Given the description of an element on the screen output the (x, y) to click on. 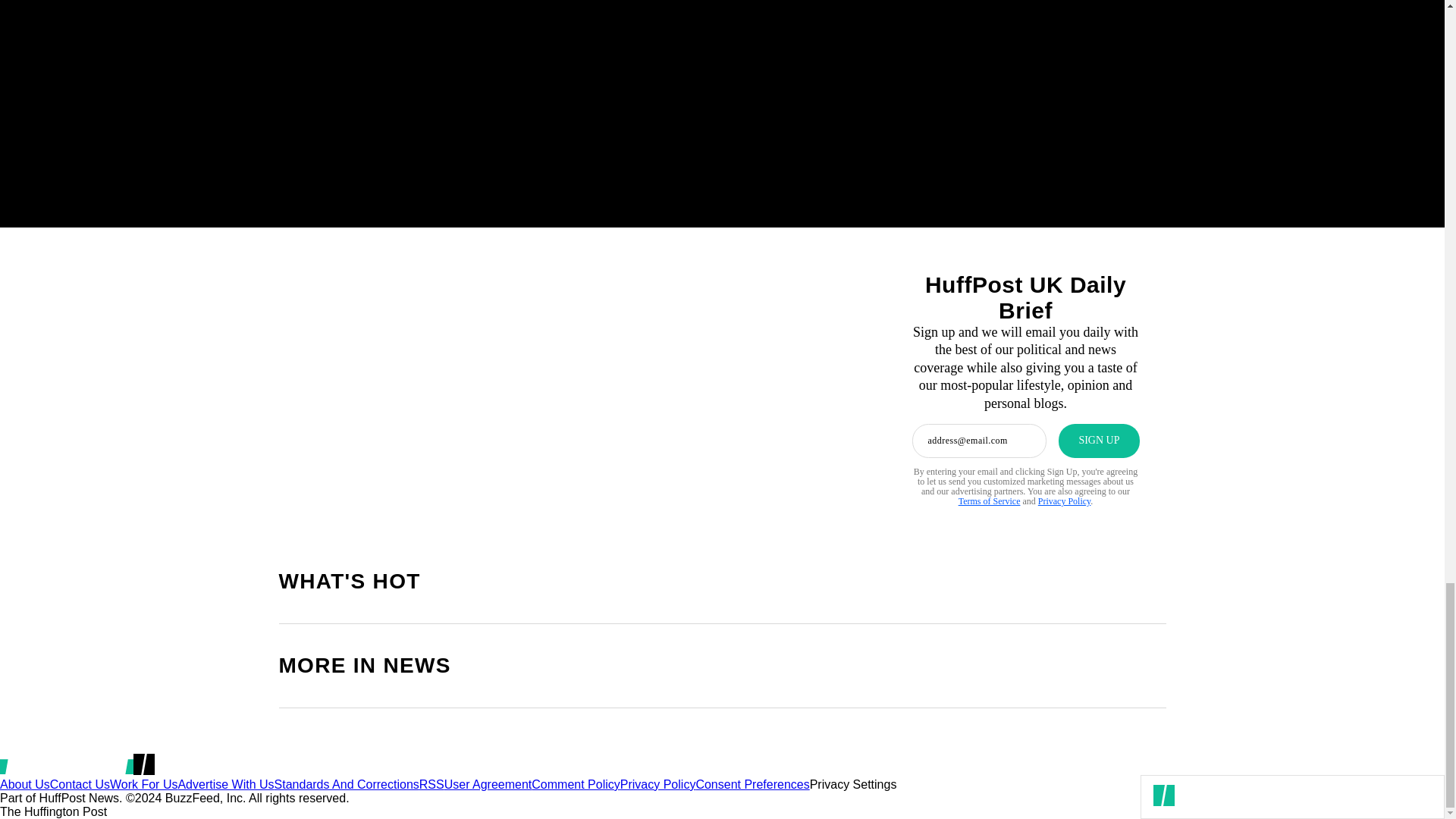
SIGN UP (1098, 440)
